Given the description of an element on the screen output the (x, y) to click on. 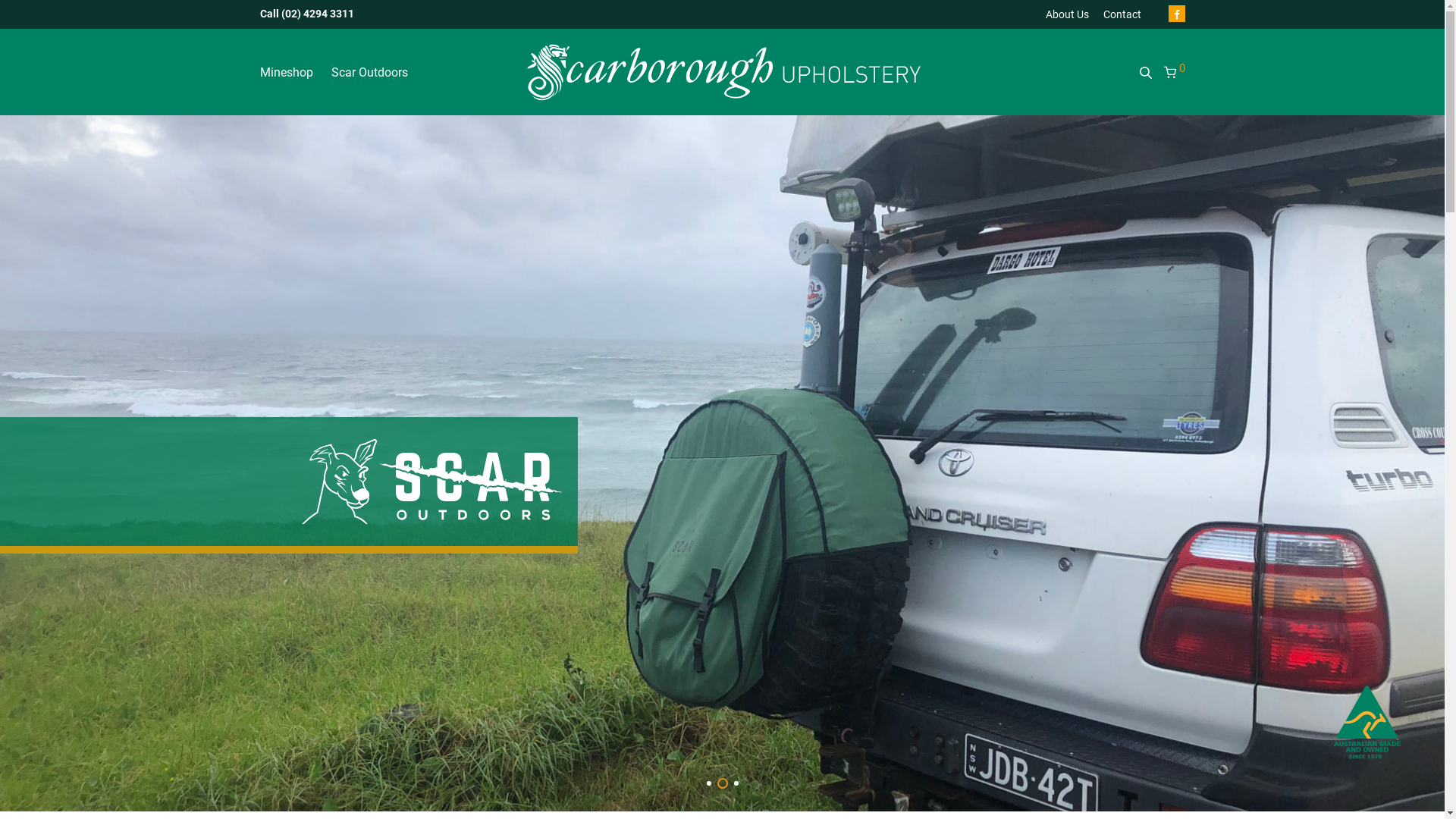
1 Element type: text (708, 783)
2 Element type: text (722, 783)
Contact Element type: text (1117, 14)
About Us Element type: text (1066, 14)
Scar Outdoors Element type: text (368, 72)
3 Element type: text (736, 783)
Mineshop Element type: text (285, 72)
0 Element type: text (1173, 72)
Facebook Element type: hover (1175, 13)
(02) 4294 3311 Element type: text (316, 13)
